Given the description of an element on the screen output the (x, y) to click on. 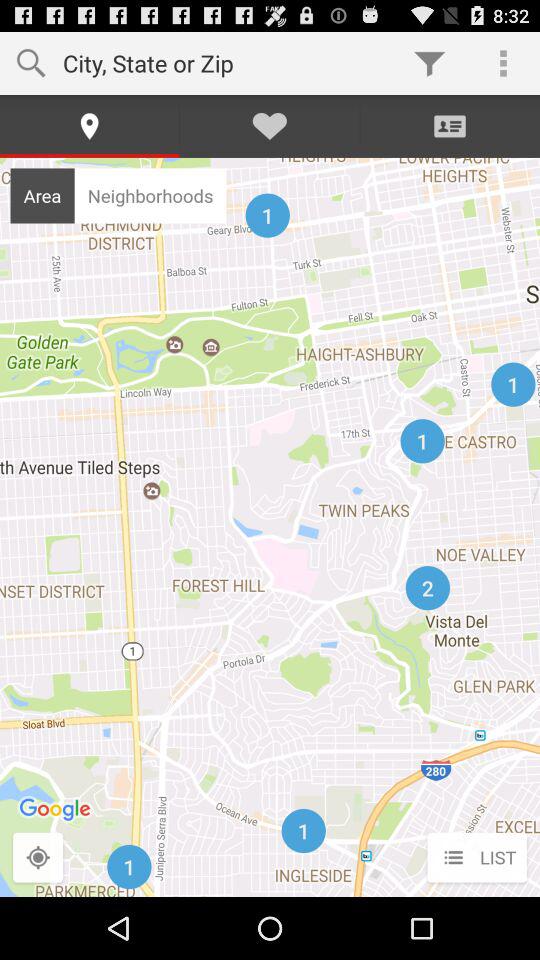
launch the icon to the left of neighborhoods icon (42, 195)
